Given the description of an element on the screen output the (x, y) to click on. 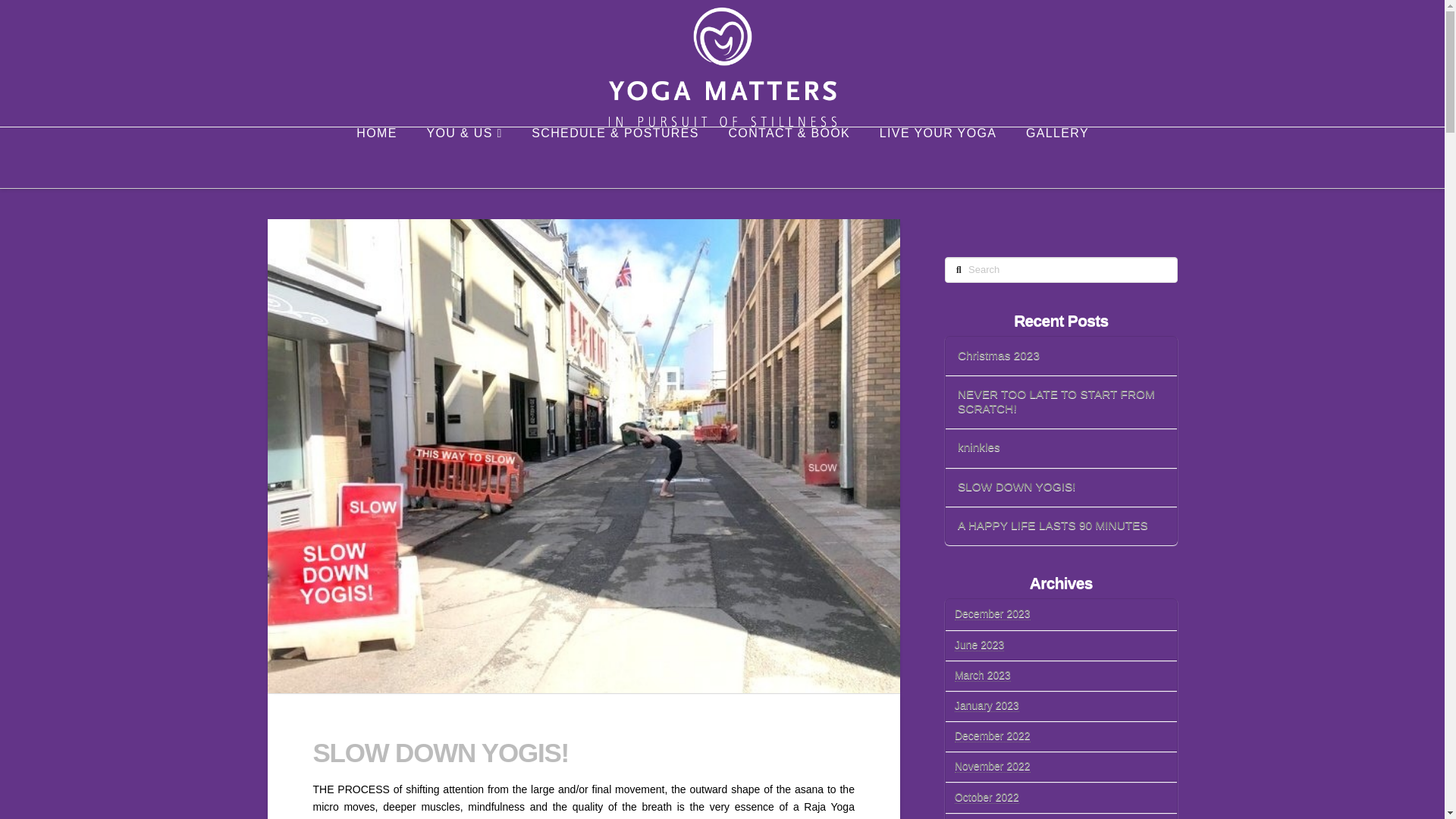
March 2023 (982, 675)
LIVE YOUR YOGA (937, 157)
SLOW DOWN YOGIS! (1061, 486)
HOME (375, 157)
June 2023 (979, 644)
Christmas 2023 (1061, 355)
January 2023 (987, 705)
kninkles (1061, 447)
November 2022 (992, 766)
October 2022 (987, 797)
December 2023 (992, 613)
December 2022 (992, 735)
A HAPPY LIFE LASTS 90 MINUTES (1061, 525)
NEVER TOO LATE TO START FROM SCRATCH! (1061, 401)
GALLERY (1056, 157)
